Given the description of an element on the screen output the (x, y) to click on. 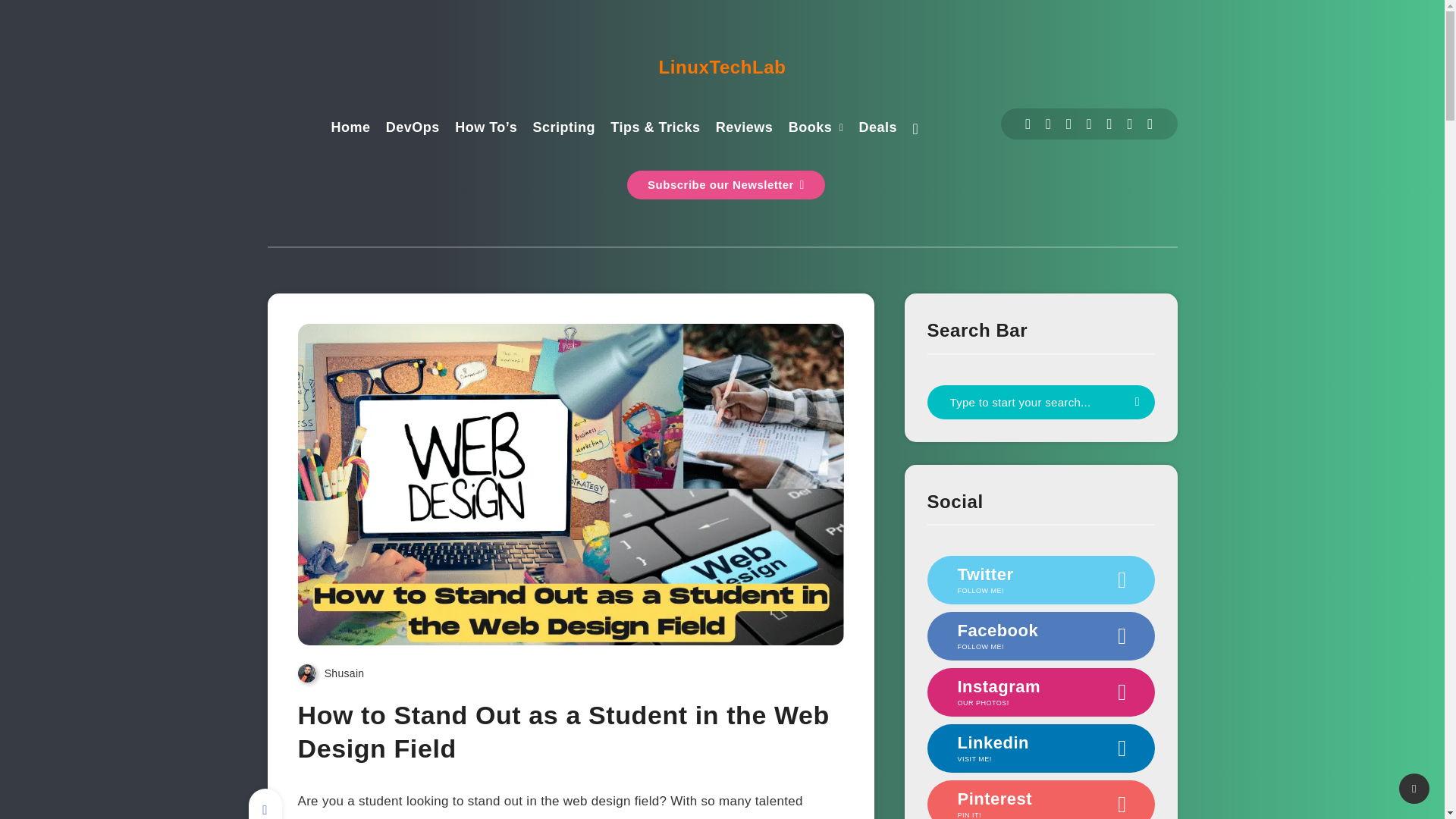
LinuxTechLab (721, 67)
Books (810, 128)
Reviews (744, 128)
Home (349, 128)
Shusain (330, 673)
DevOps (412, 128)
Deals (878, 128)
Scripting (563, 128)
Subscribe our Newsletter (726, 184)
Shusain (330, 673)
